Given the description of an element on the screen output the (x, y) to click on. 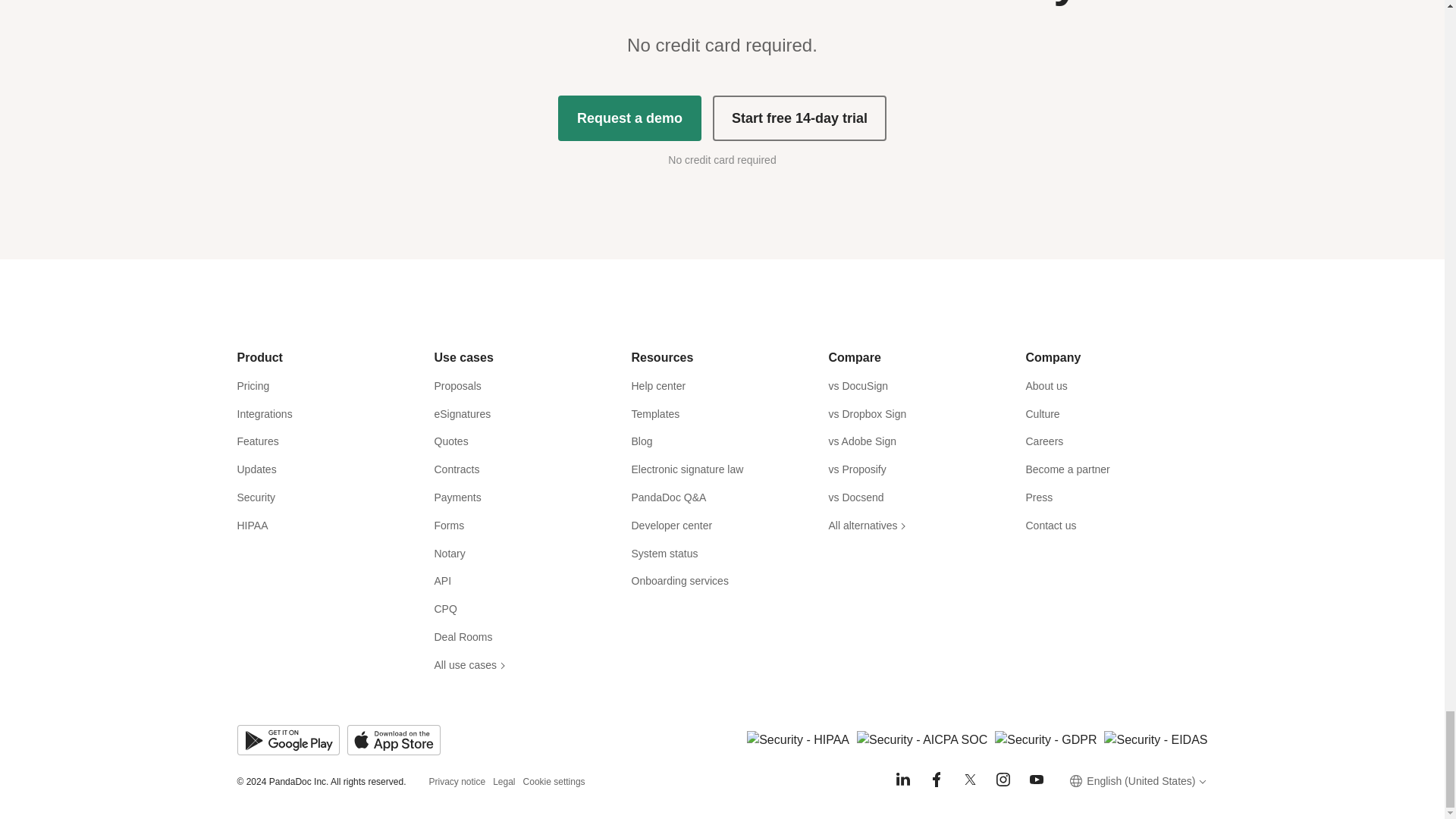
Youtube (1036, 779)
Facebook (935, 779)
LinkedIn (902, 779)
Instagram (1002, 779)
Twitter (969, 779)
